Given the description of an element on the screen output the (x, y) to click on. 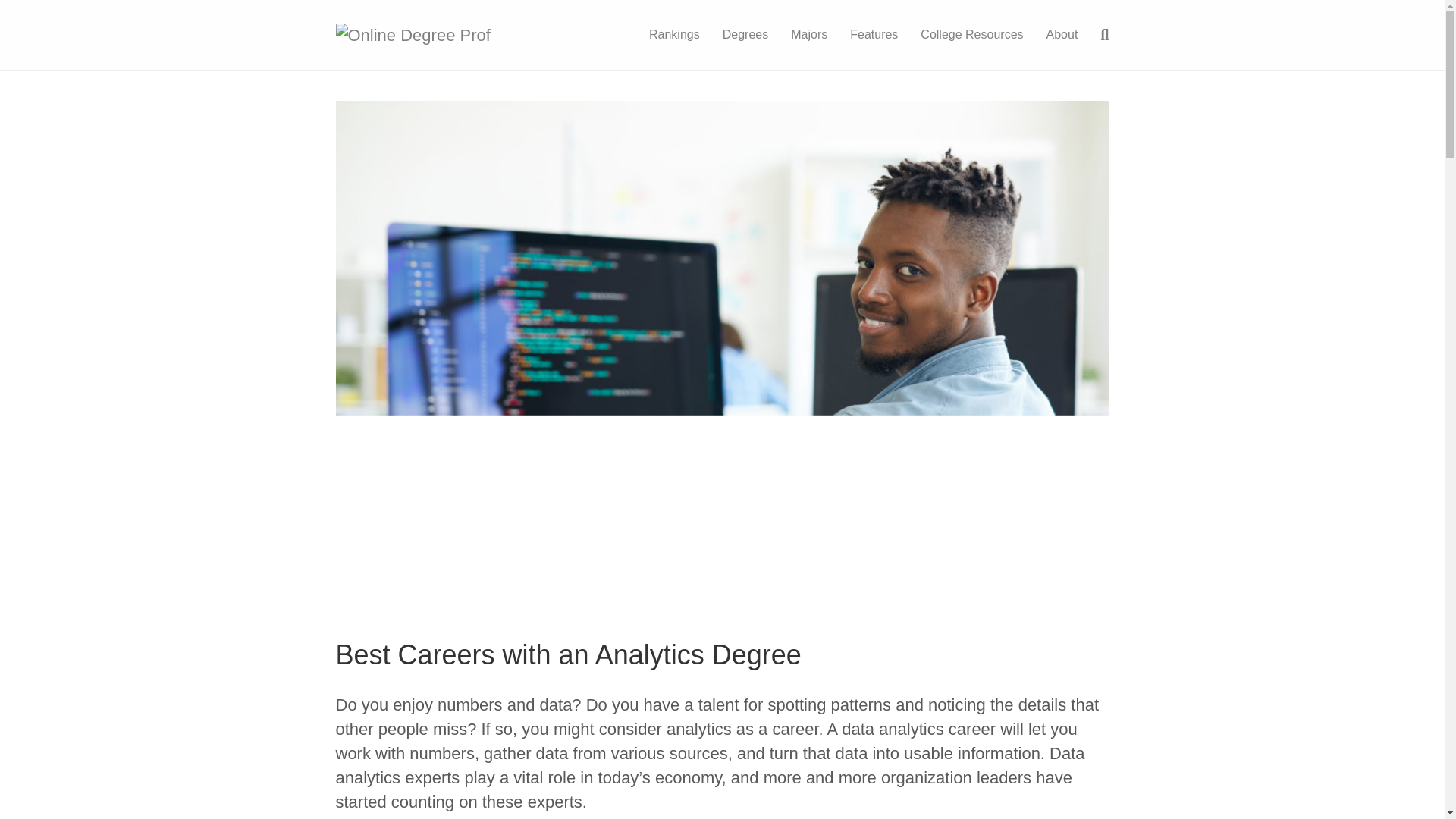
Features (873, 34)
About (1062, 34)
Rankings (674, 34)
College Resources (970, 34)
Degrees (744, 34)
Majors (808, 34)
